Given the description of an element on the screen output the (x, y) to click on. 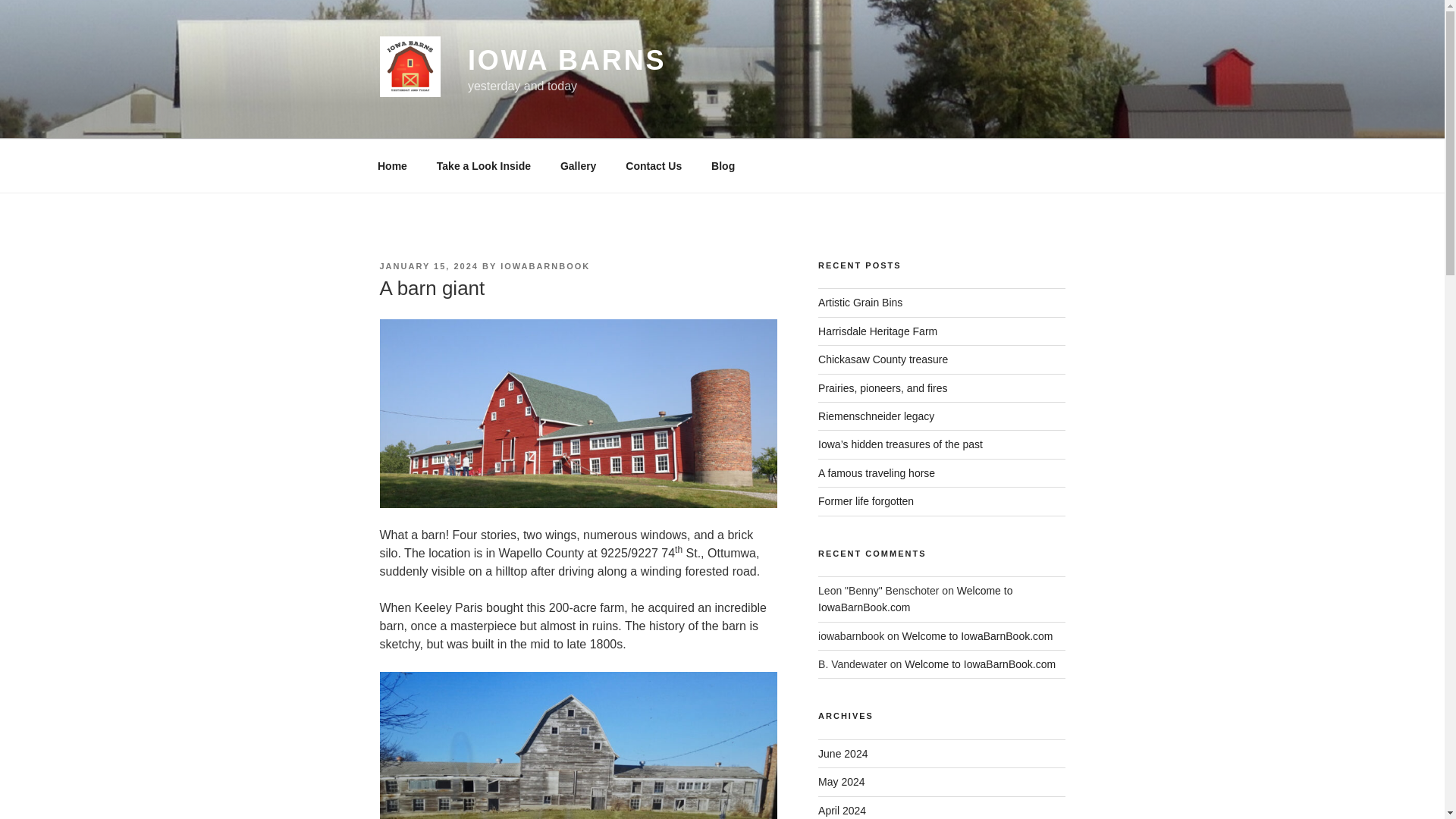
Artistic Grain Bins (860, 302)
Welcome to IowaBarnBook.com (914, 598)
JANUARY 15, 2024 (427, 266)
Welcome to IowaBarnBook.com (977, 635)
IOWABARNBOOK (544, 266)
Riemenschneider legacy (876, 416)
Gallery (577, 165)
Former life forgotten (866, 500)
April 2024 (842, 810)
Welcome to IowaBarnBook.com (979, 664)
June 2024 (842, 753)
Prairies, pioneers, and fires (882, 387)
IOWA BARNS (566, 60)
Harrisdale Heritage Farm (877, 331)
Take a Look Inside (483, 165)
